Given the description of an element on the screen output the (x, y) to click on. 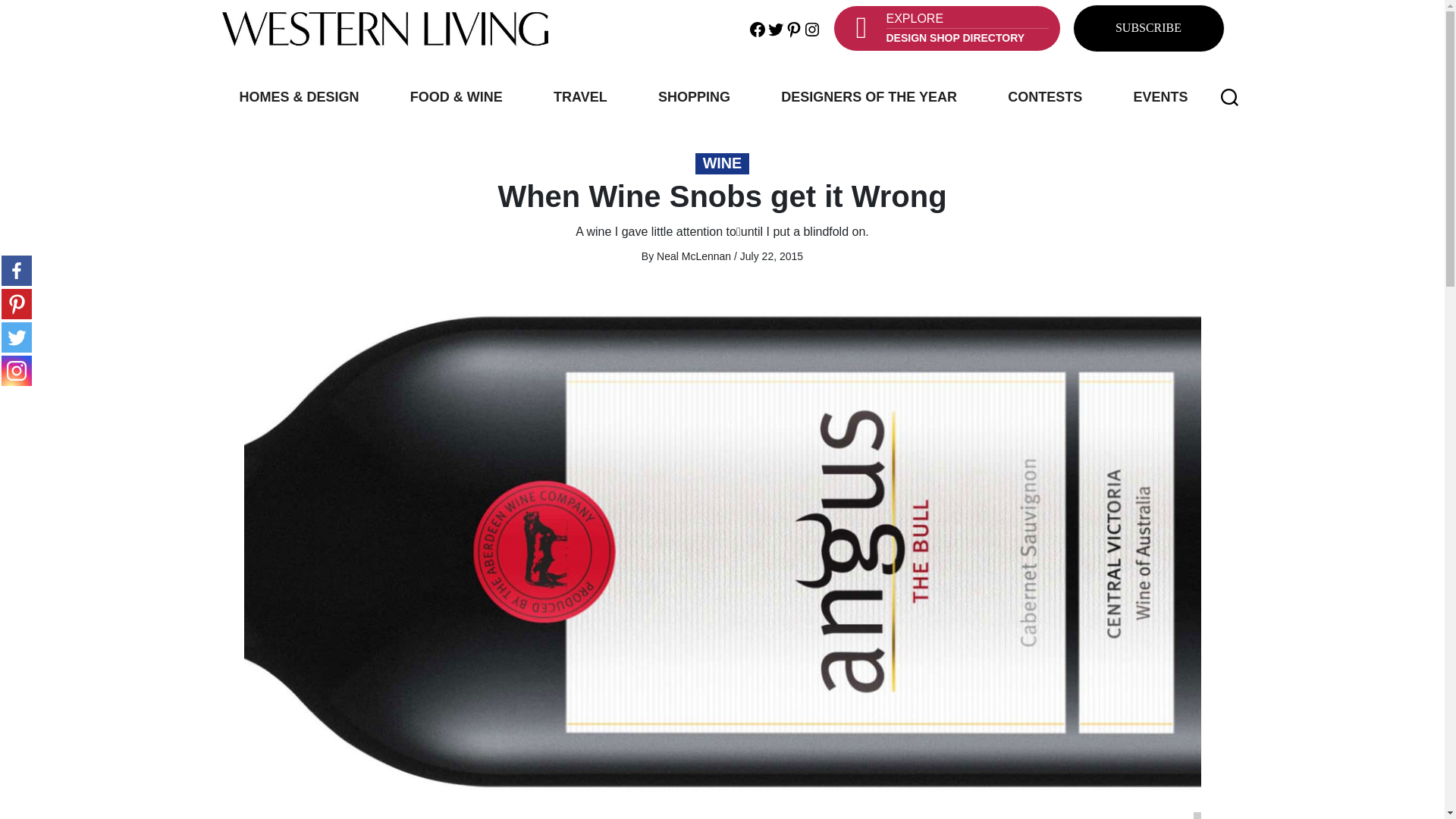
Instagram (811, 27)
Twitter (16, 337)
Twitter (774, 27)
Pinterest (16, 304)
Pinterest (793, 27)
SUBSCRIBE (1147, 28)
Facebook (16, 270)
Instagram (16, 370)
Facebook (756, 27)
